Given the description of an element on the screen output the (x, y) to click on. 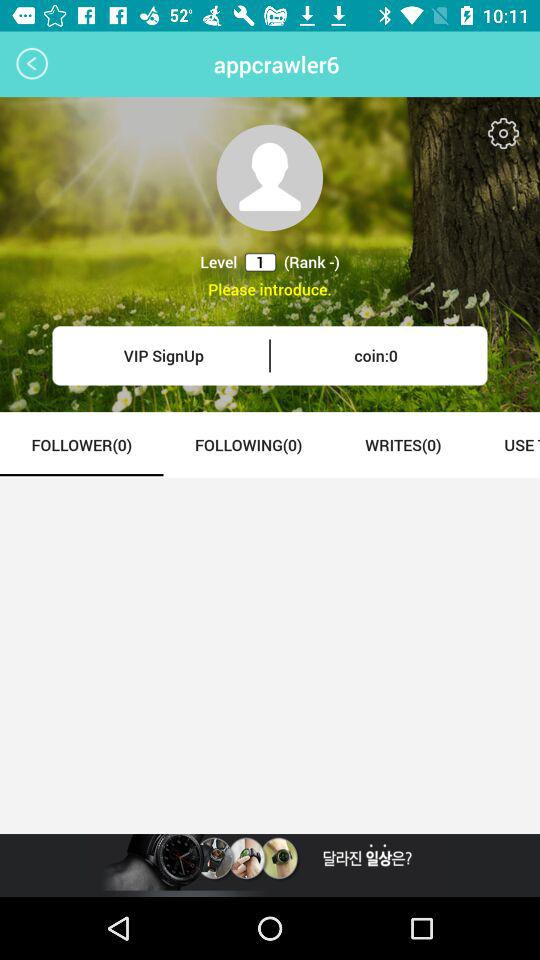
jump to coin:0 (375, 355)
